Given the description of an element on the screen output the (x, y) to click on. 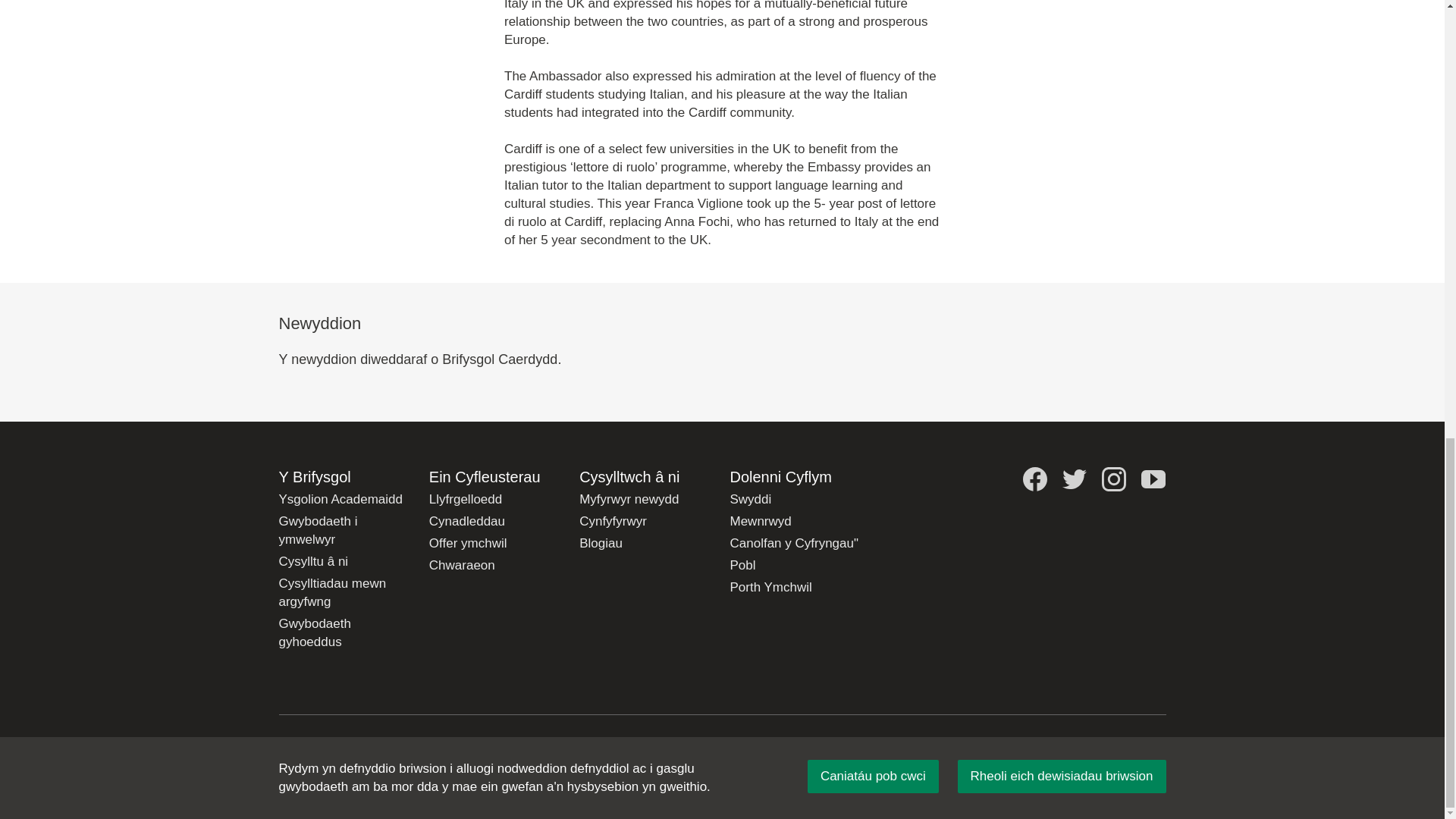
facebook (1034, 478)
twitter no background icon (1074, 478)
Youtube (1153, 478)
instagram (1113, 478)
